Given the description of an element on the screen output the (x, y) to click on. 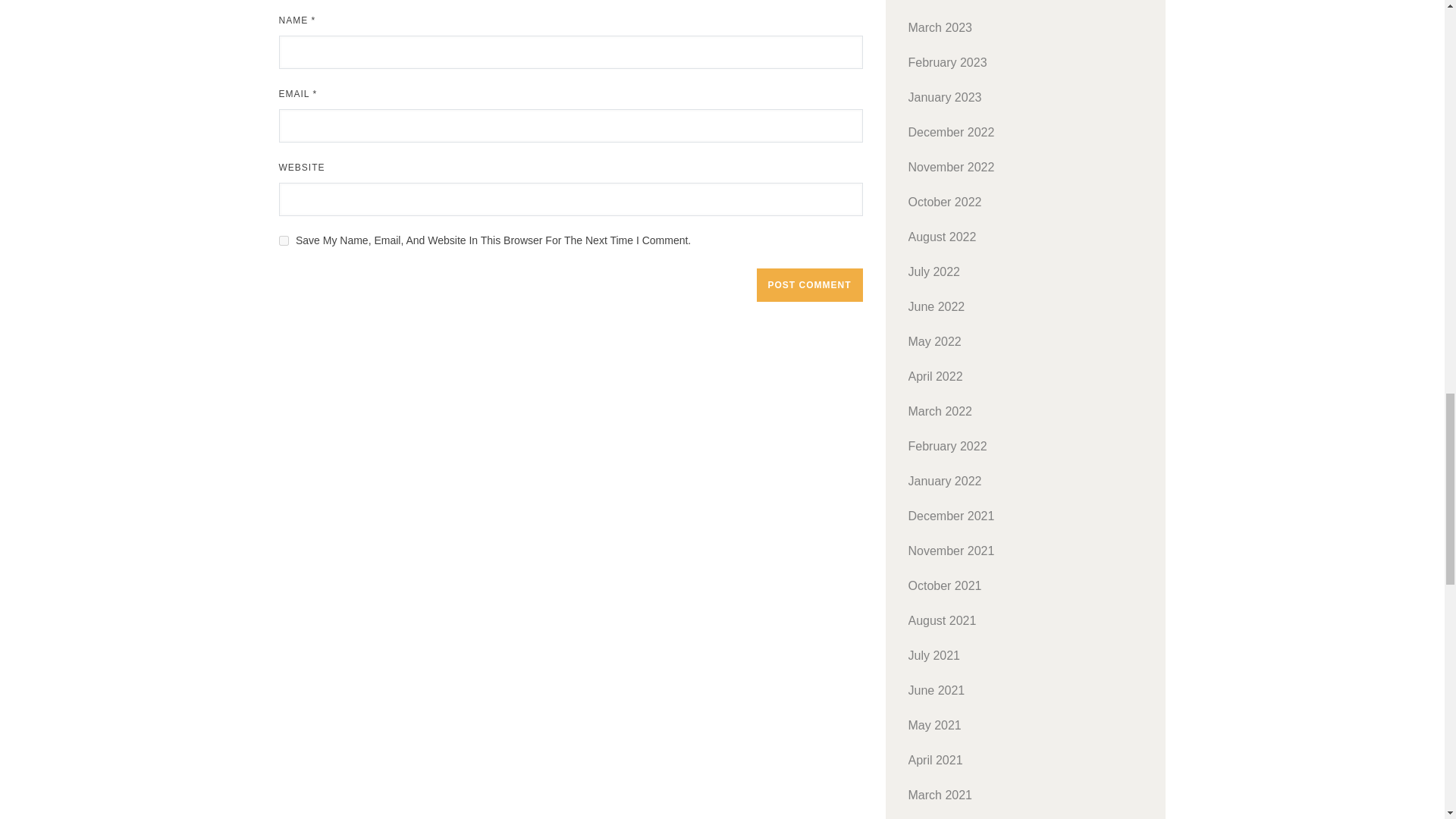
Post Comment (810, 285)
yes (283, 240)
